Given the description of an element on the screen output the (x, y) to click on. 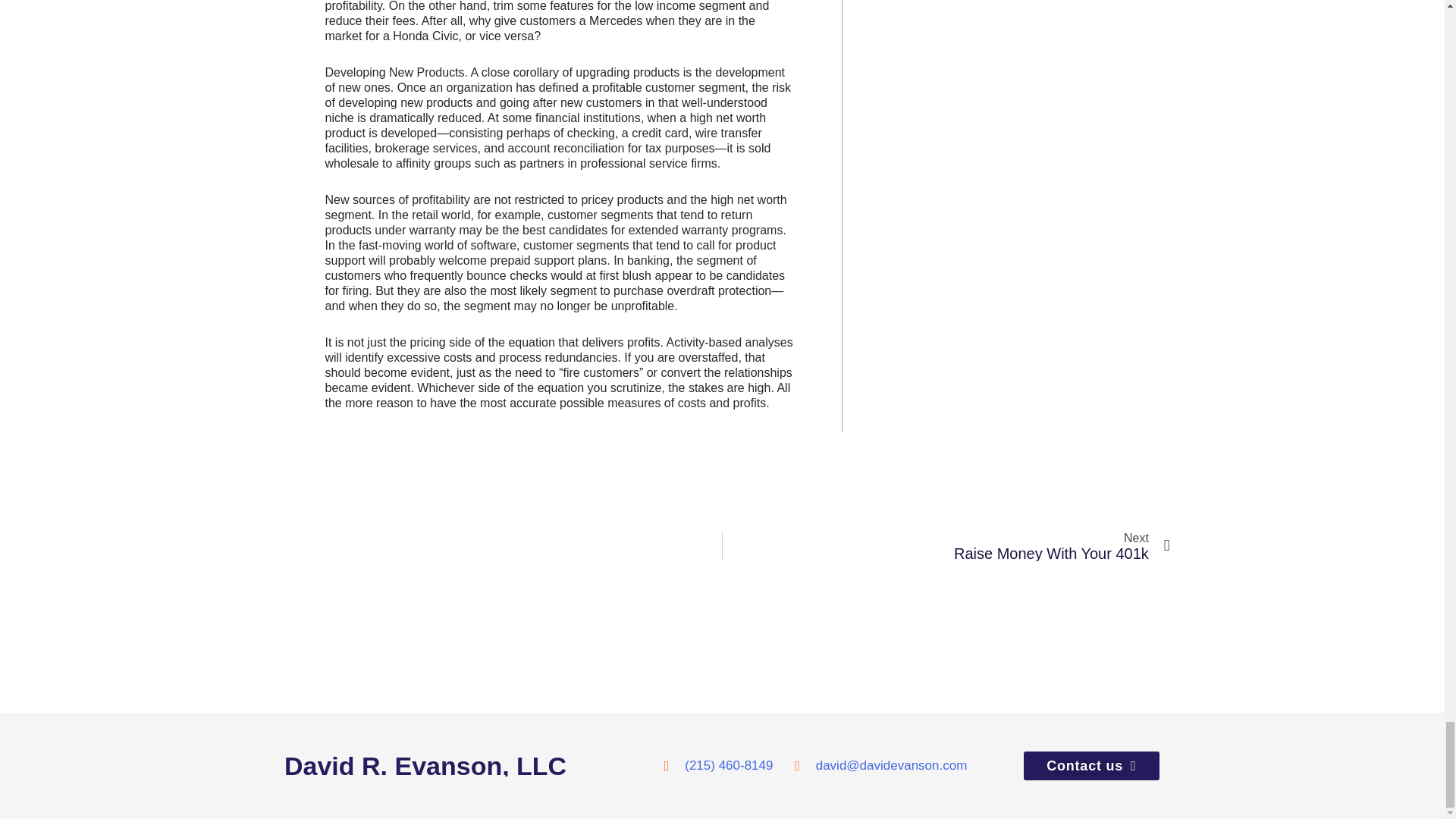
David R. Evanson, LLC (946, 545)
Contact us (473, 765)
